Given the description of an element on the screen output the (x, y) to click on. 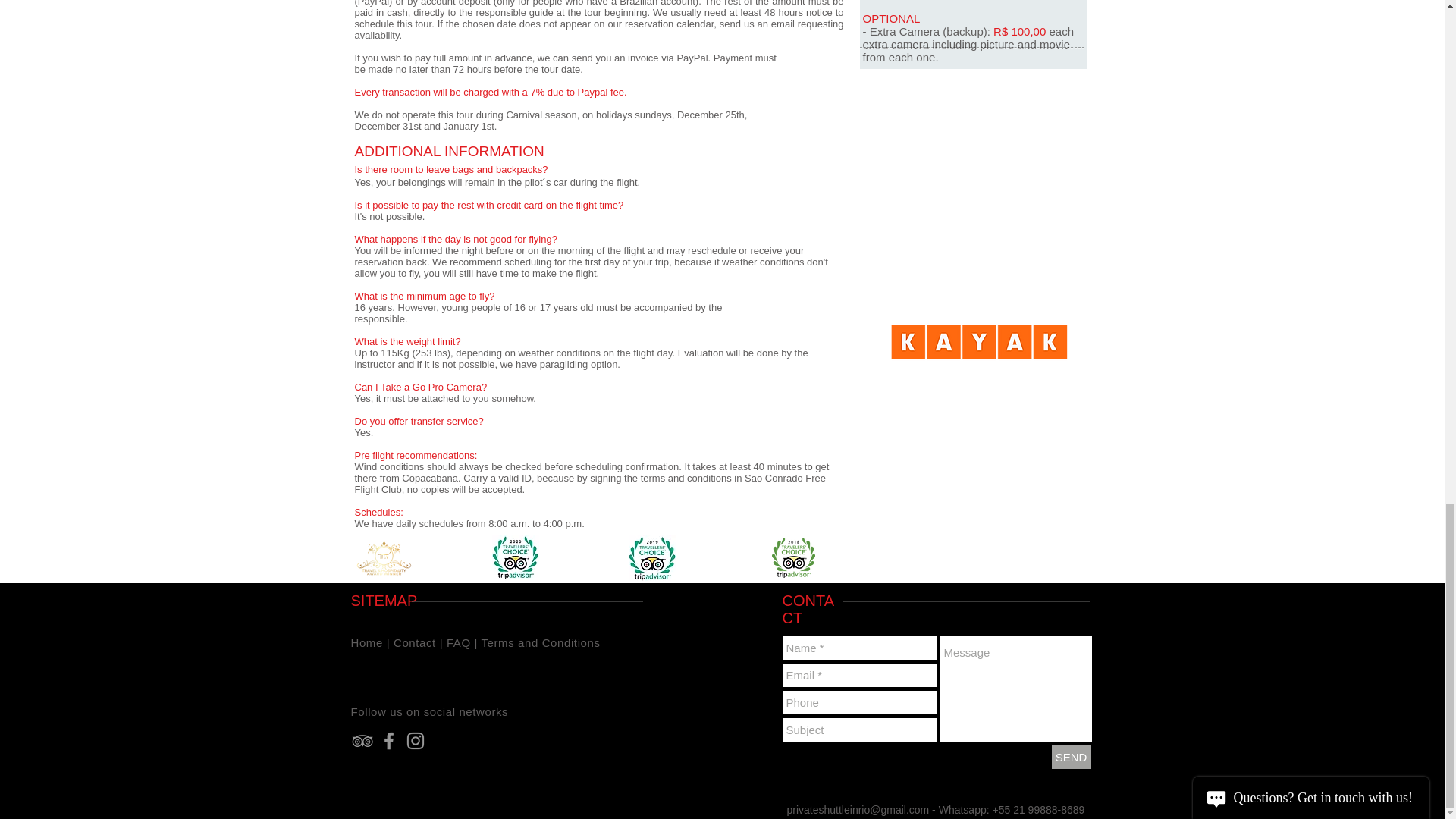
Embedded Content (979, 234)
Embedded Content (513, 671)
Facebook Like (386, 672)
s-tripadvisor-travelers-choice-2017-2020 (515, 557)
s-tripadvisor-travelers-choice-2017-2020 (651, 557)
Embedded Content (988, 100)
